Given the description of an element on the screen output the (x, y) to click on. 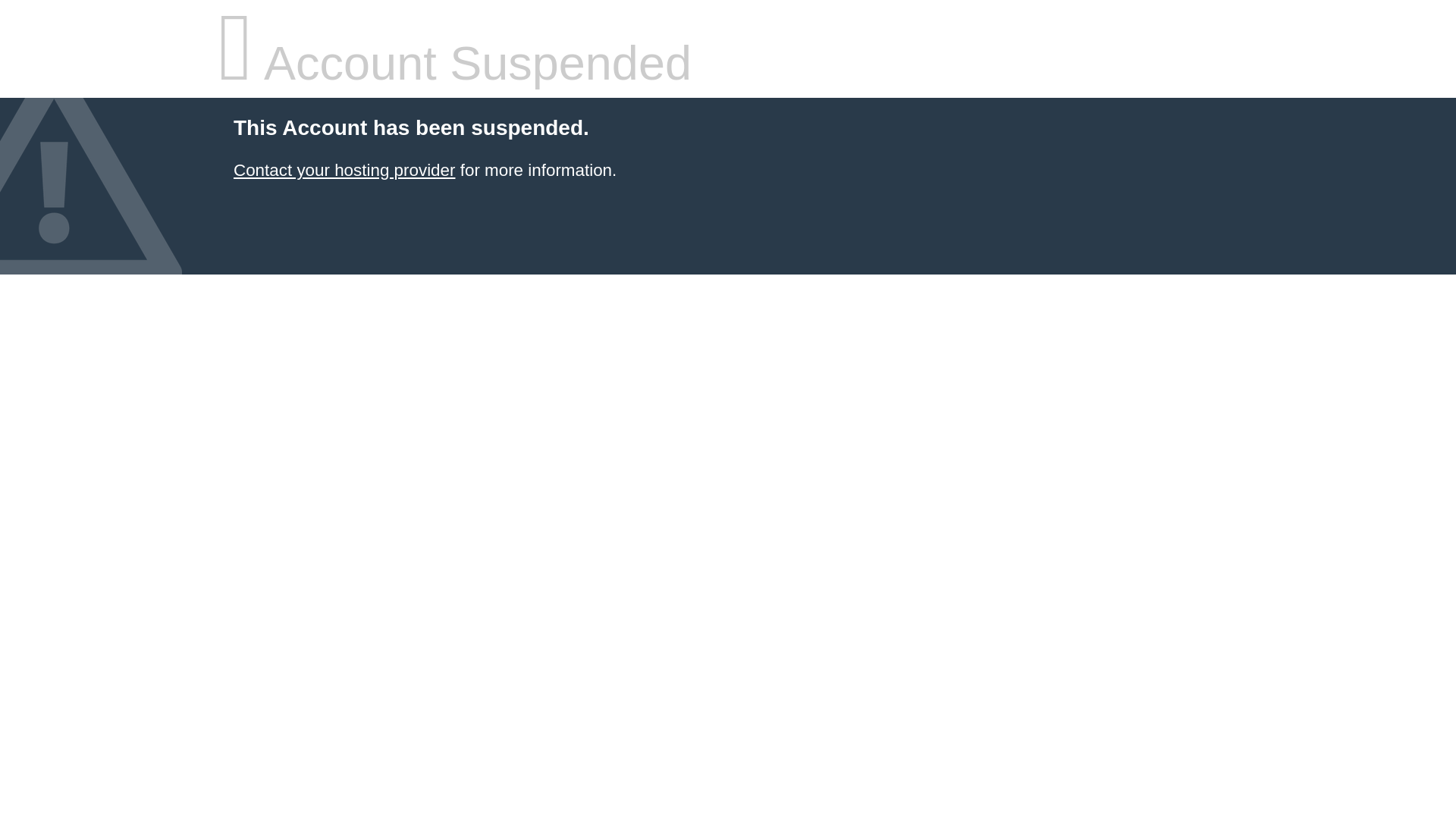
Contact your hosting provider (343, 169)
